Given the description of an element on the screen output the (x, y) to click on. 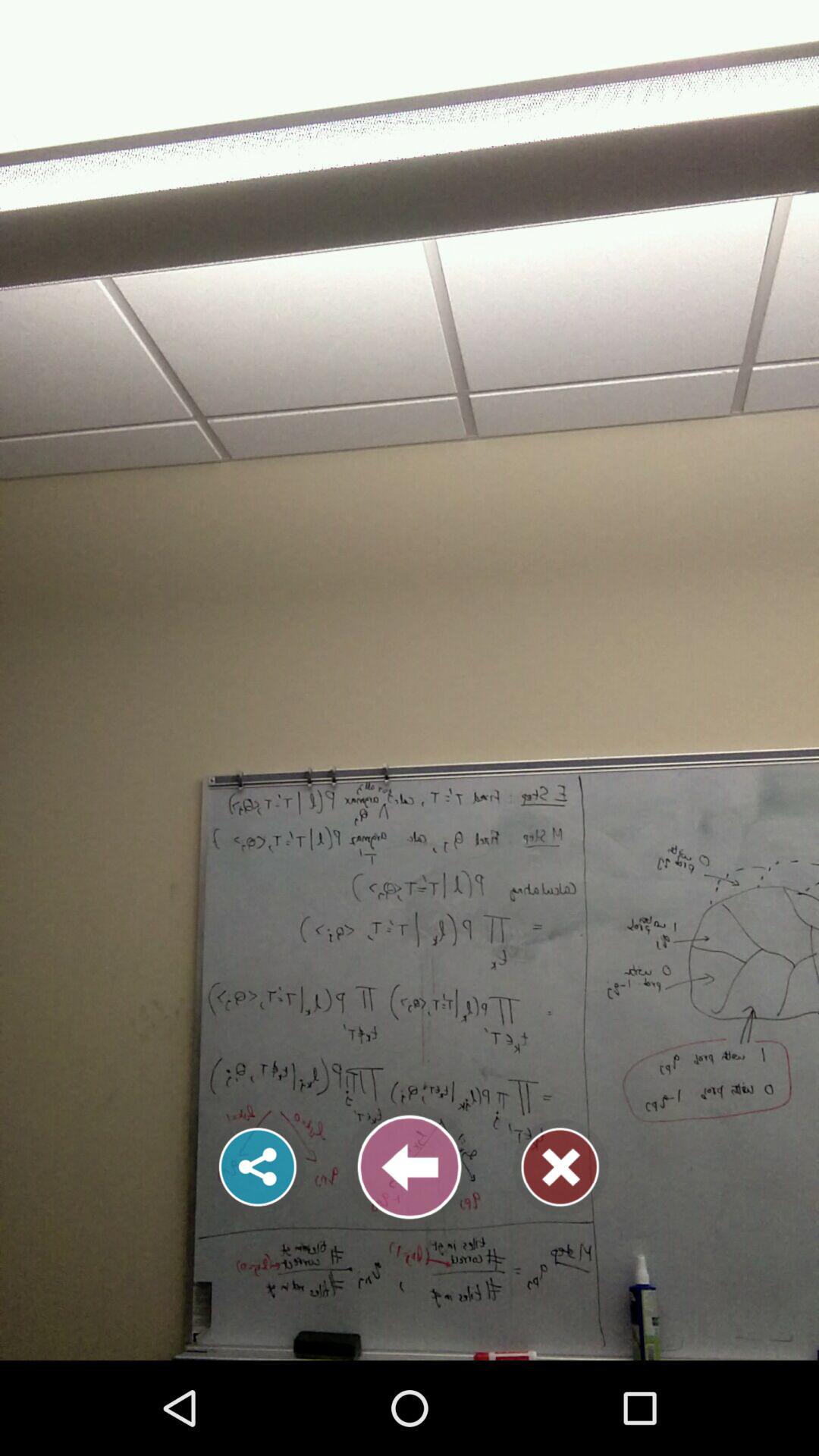
back option (409, 1166)
